Given the description of an element on the screen output the (x, y) to click on. 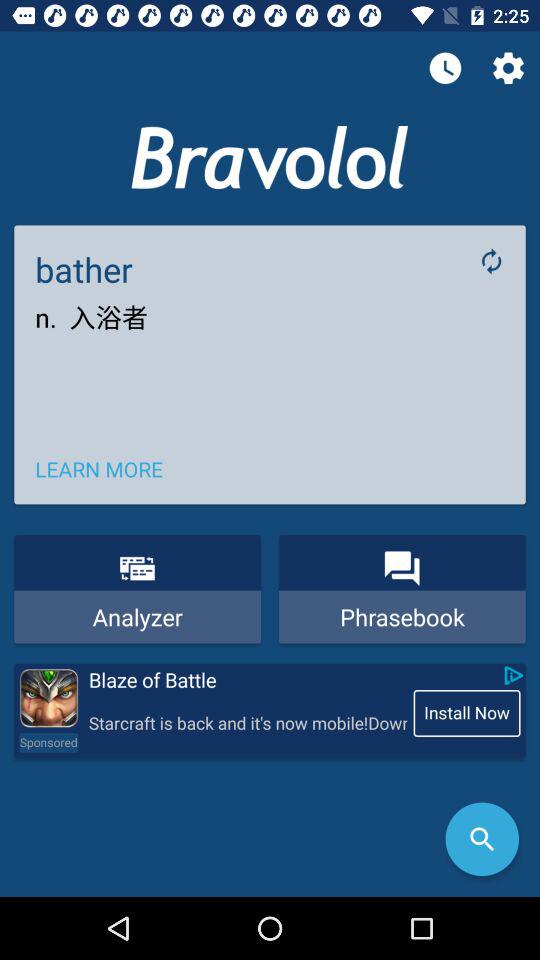
select icon to the left of the install now icon (247, 723)
